Given the description of an element on the screen output the (x, y) to click on. 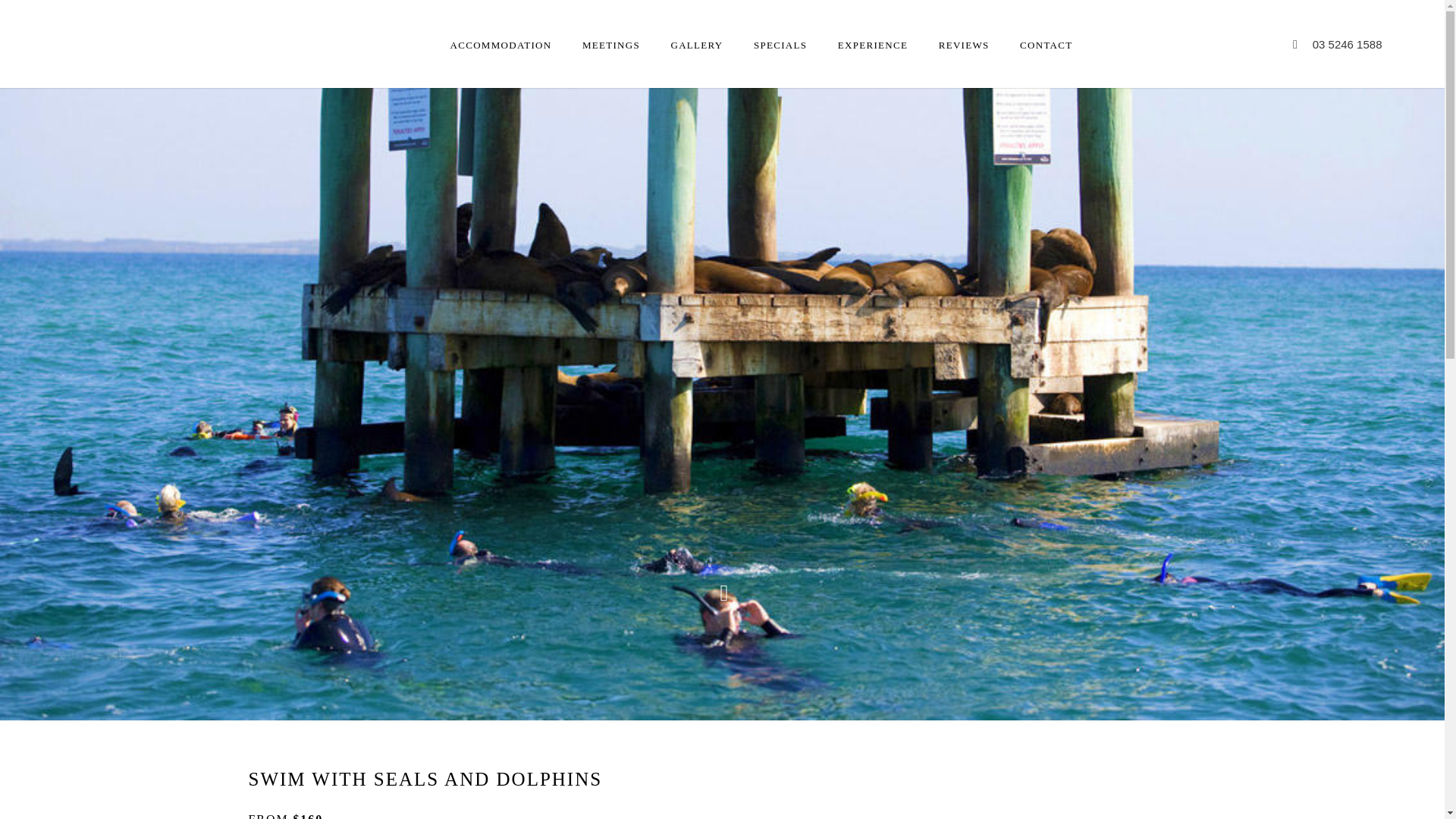
CONTACT (1045, 24)
REVIEWS (964, 24)
03 5246 1588 (1347, 43)
Call Us (1347, 43)
MEETINGS (611, 24)
ACCOMMODATION (500, 24)
Vue Geelong Apartments (97, 41)
SPECIALS (779, 24)
GALLERY (696, 24)
EXPERIENCE (872, 24)
